Given the description of an element on the screen output the (x, y) to click on. 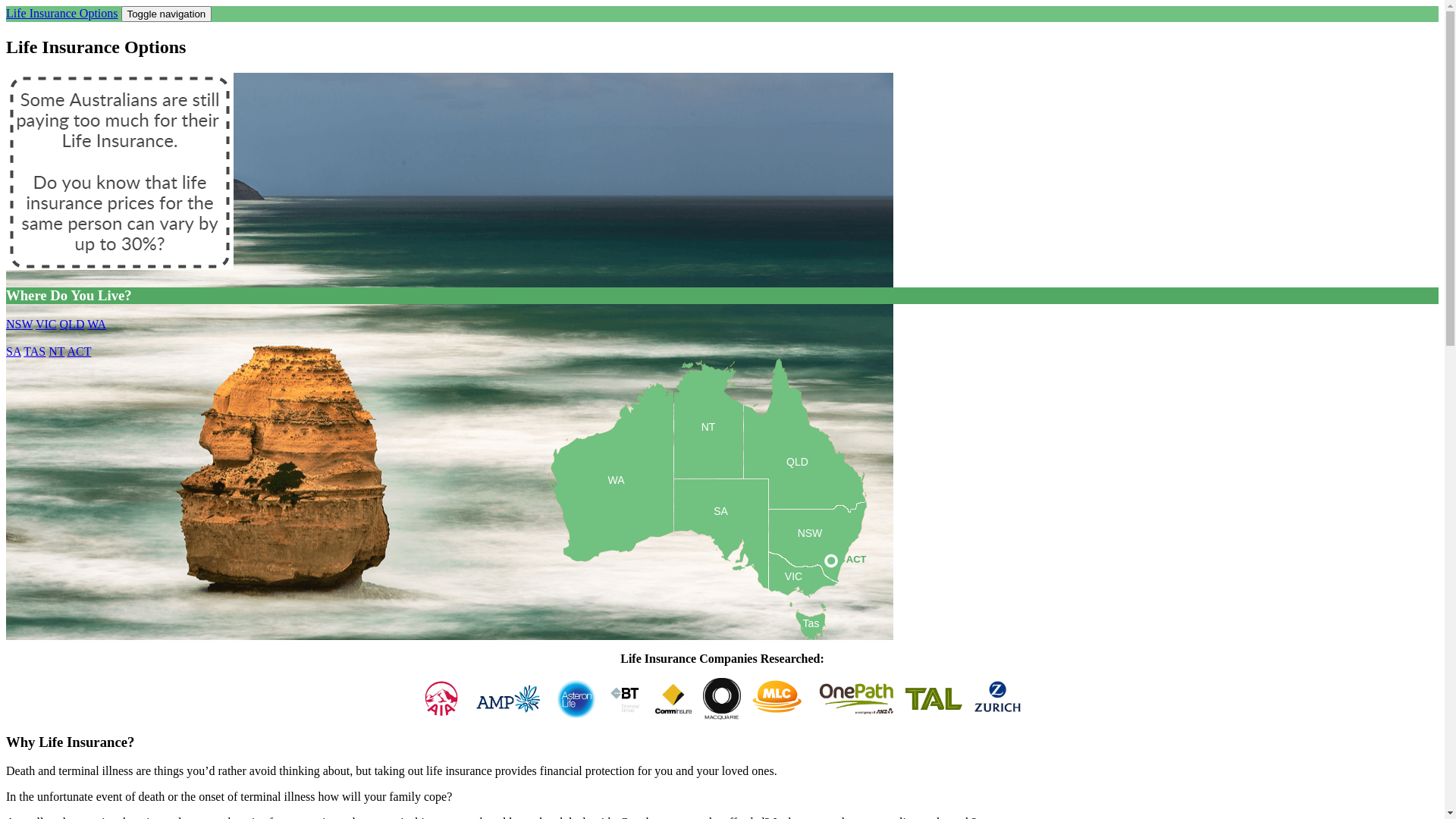
SA Element type: text (720, 546)
NT Element type: text (707, 449)
WA Element type: text (96, 323)
QLD Element type: text (804, 482)
Tas Element type: text (810, 628)
NSW Element type: text (817, 560)
TAS Element type: text (34, 351)
Toggle navigation Element type: text (166, 13)
WA Element type: text (609, 517)
Life Insurance Options Element type: text (62, 12)
VIC Element type: text (802, 582)
Skip to main content Element type: text (56, 6)
QLD Element type: text (71, 323)
SA Element type: text (13, 351)
ACT Element type: text (844, 560)
VIC Element type: text (45, 323)
ACT Element type: text (78, 351)
NSW Element type: text (19, 323)
NT Element type: text (56, 351)
